Given the description of an element on the screen output the (x, y) to click on. 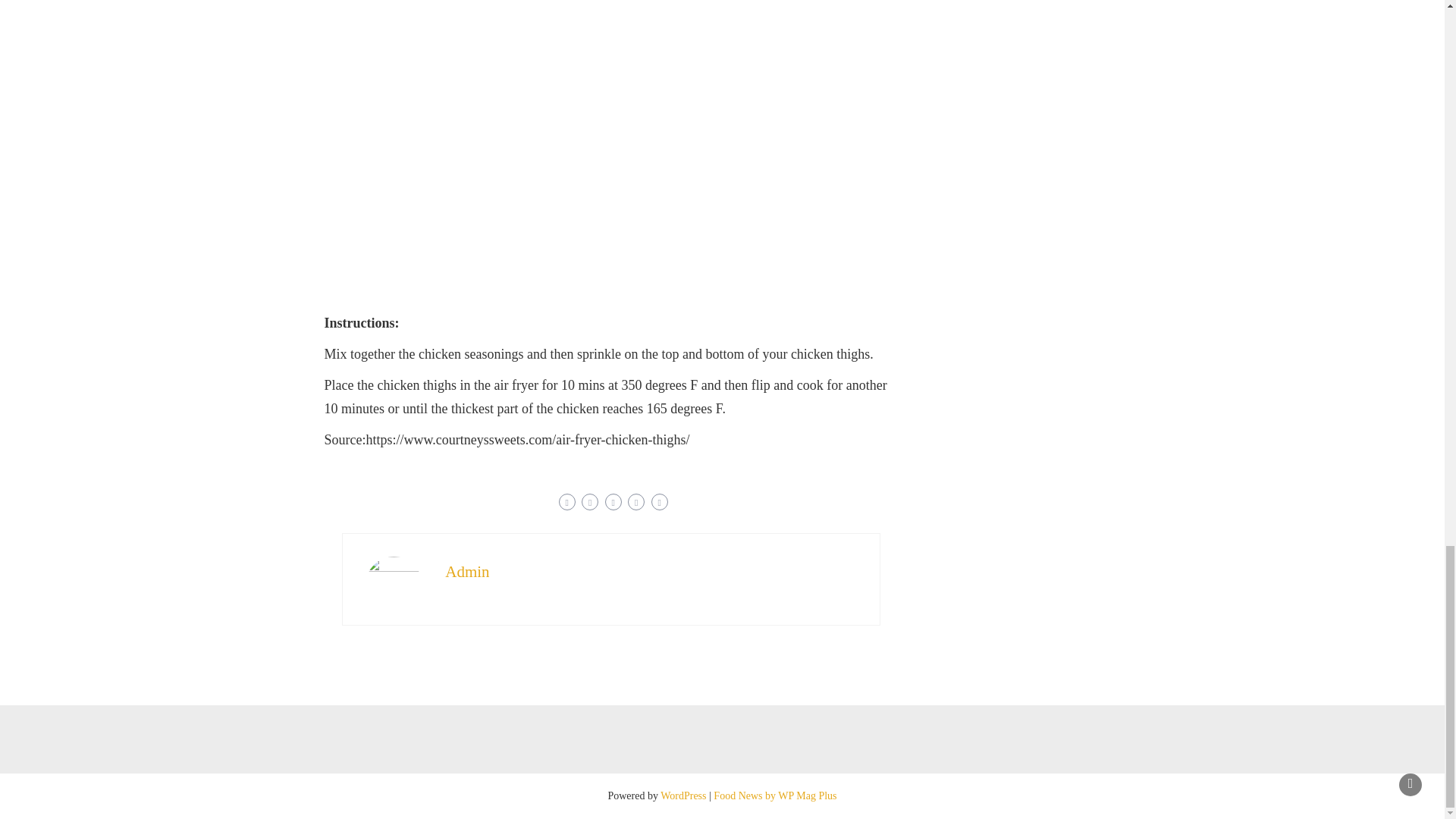
Admin (467, 571)
